Given the description of an element on the screen output the (x, y) to click on. 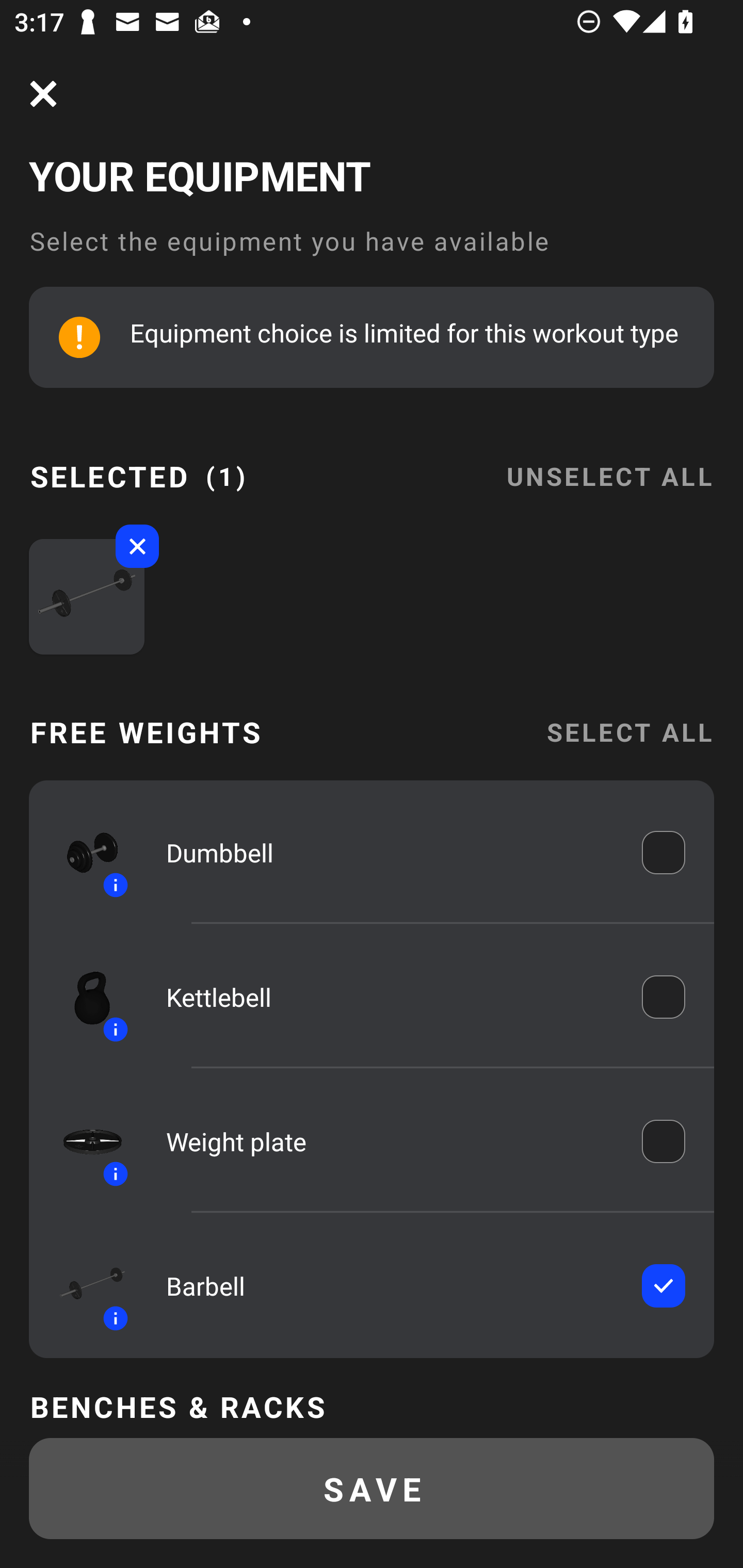
Navigation icon (43, 93)
UNSELECT ALL (609, 463)
SELECT ALL (629, 731)
Equipment icon Information icon (82, 852)
Dumbbell (389, 852)
Equipment icon Information icon (82, 996)
Kettlebell (389, 996)
Equipment icon Information icon (82, 1140)
Weight plate (389, 1141)
Equipment icon Information icon (82, 1286)
Barbell (389, 1285)
SAVE (371, 1488)
